Given the description of an element on the screen output the (x, y) to click on. 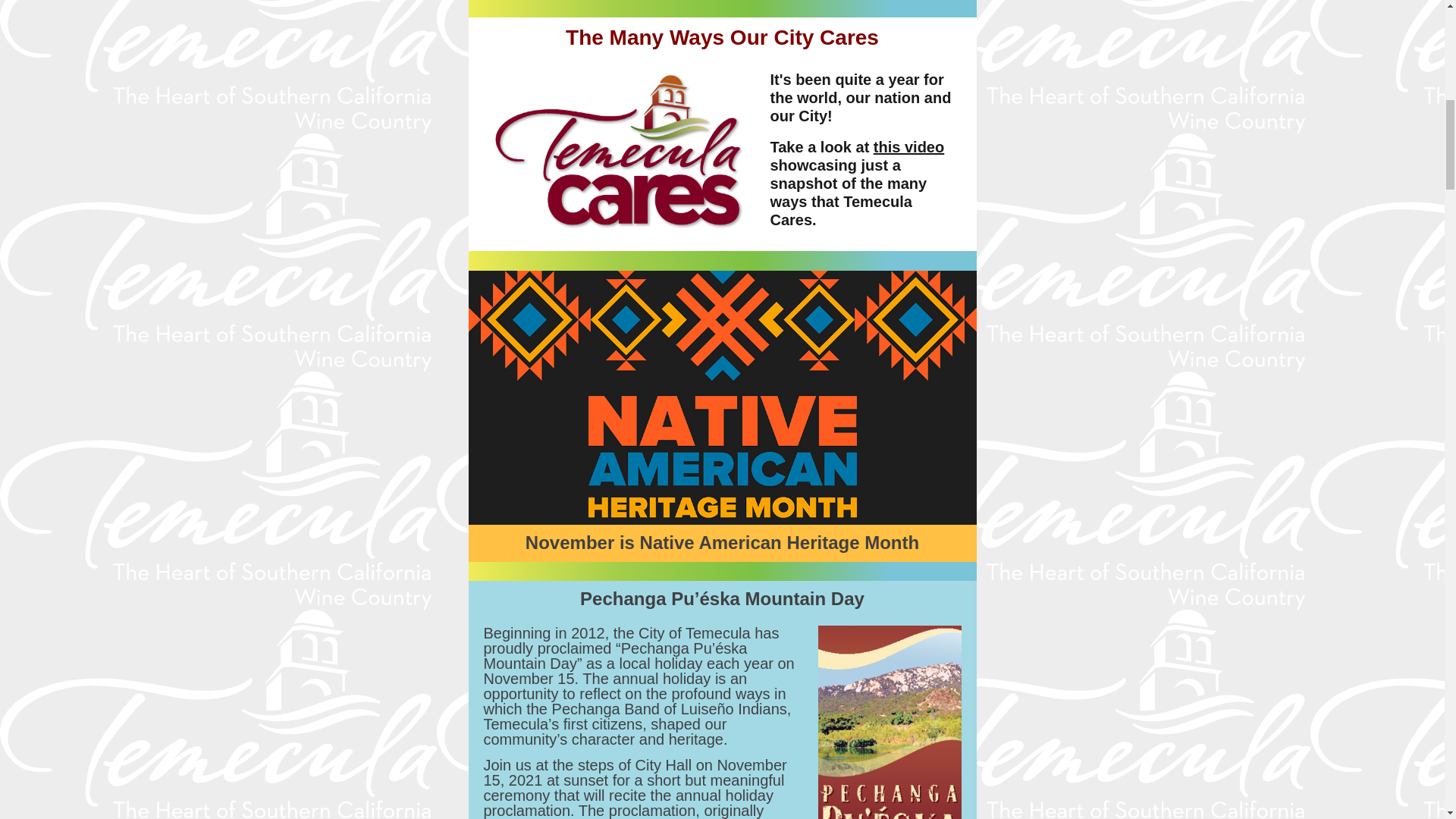
this video (908, 146)
